Given the description of an element on the screen output the (x, y) to click on. 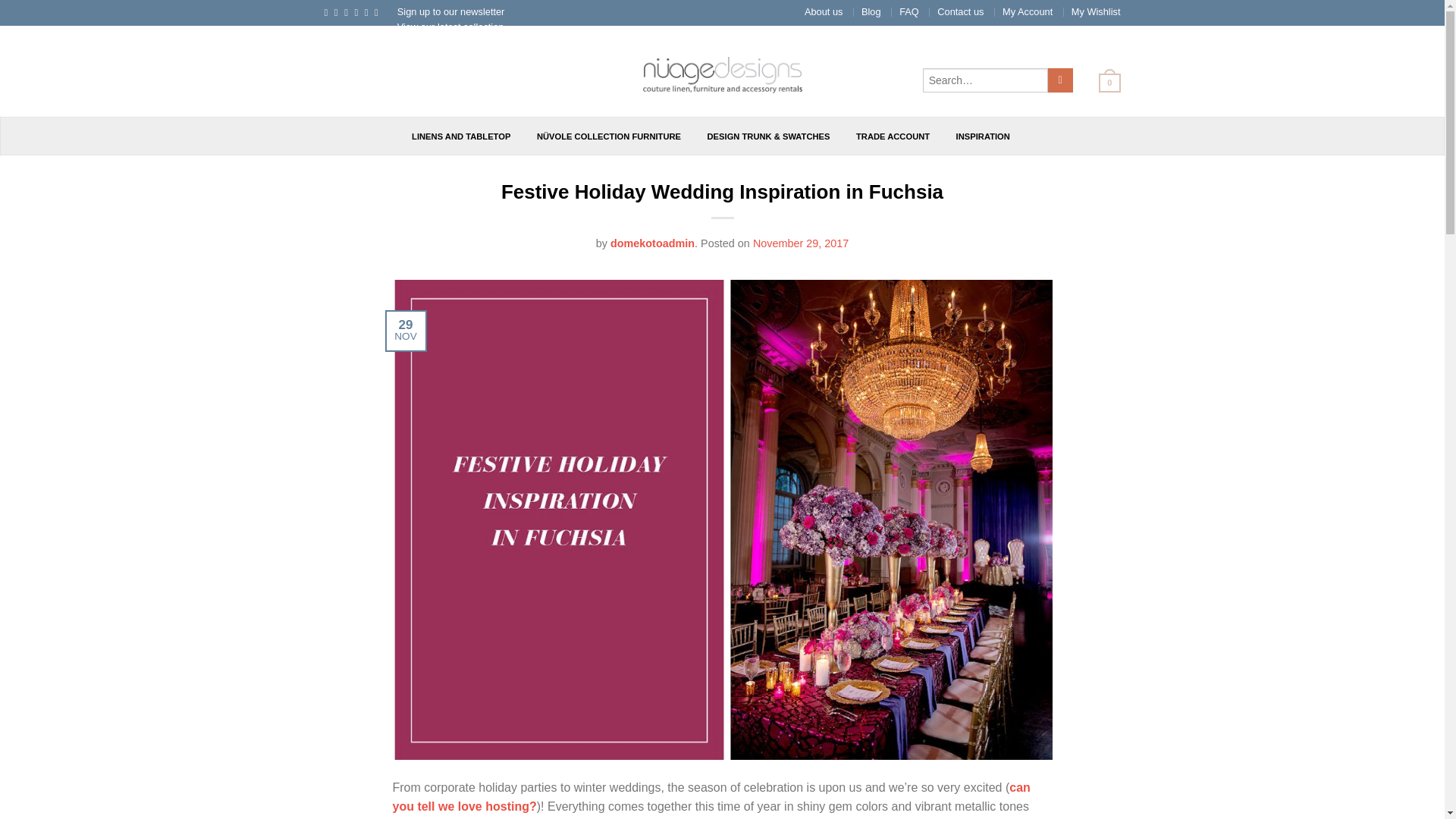
View all posts by domekotoadmin (652, 243)
4:00 am (800, 243)
FAQ (908, 11)
My Wishlist (1096, 11)
About us (824, 11)
0 (1103, 81)
Blog (870, 11)
LINENS AND TABLETOP (461, 135)
View our latest collection (450, 26)
Contact us (960, 11)
